Given the description of an element on the screen output the (x, y) to click on. 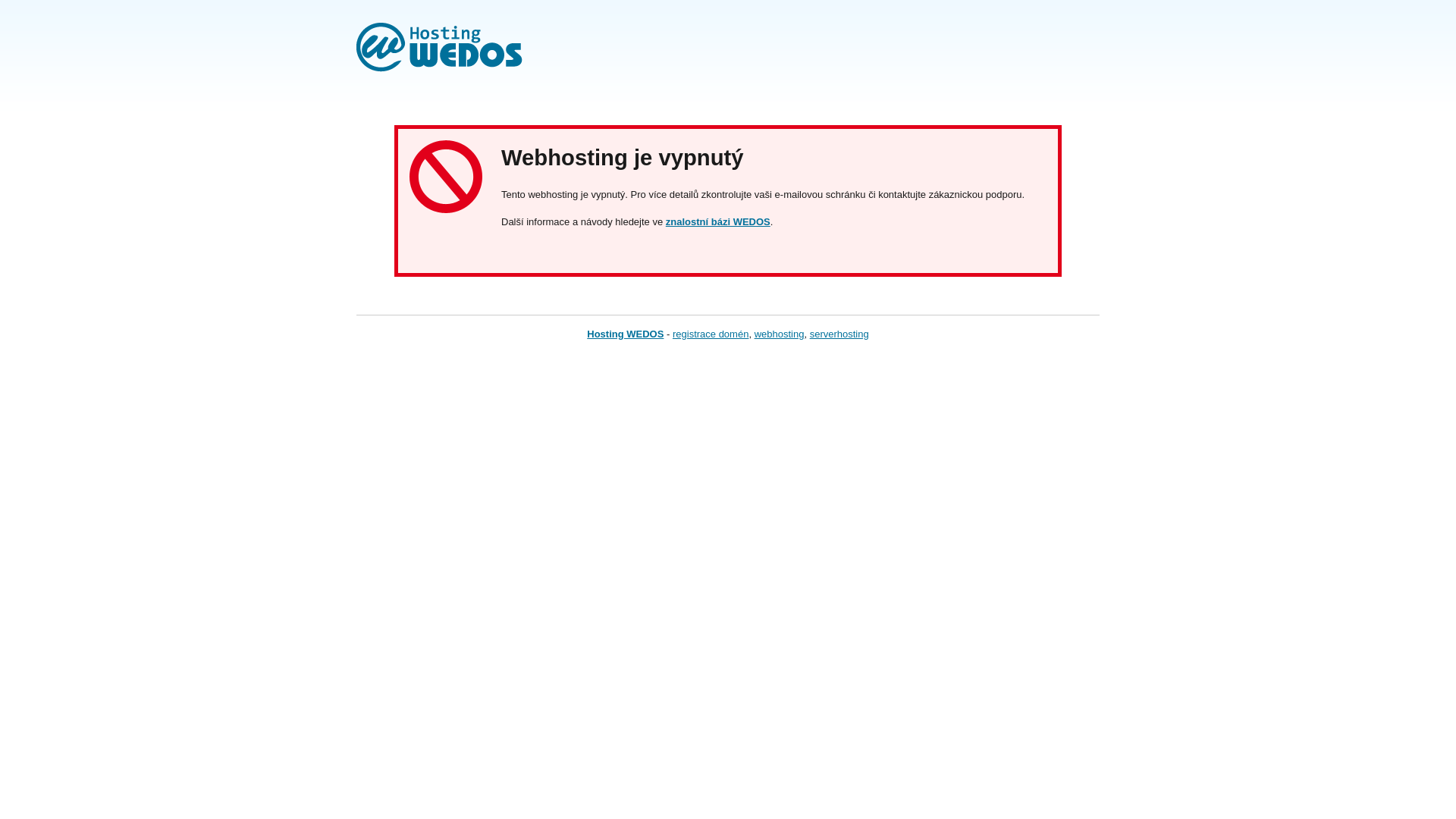
Hosting WEDOS (624, 333)
serverhosting (839, 333)
webhosting (779, 333)
